Given the description of an element on the screen output the (x, y) to click on. 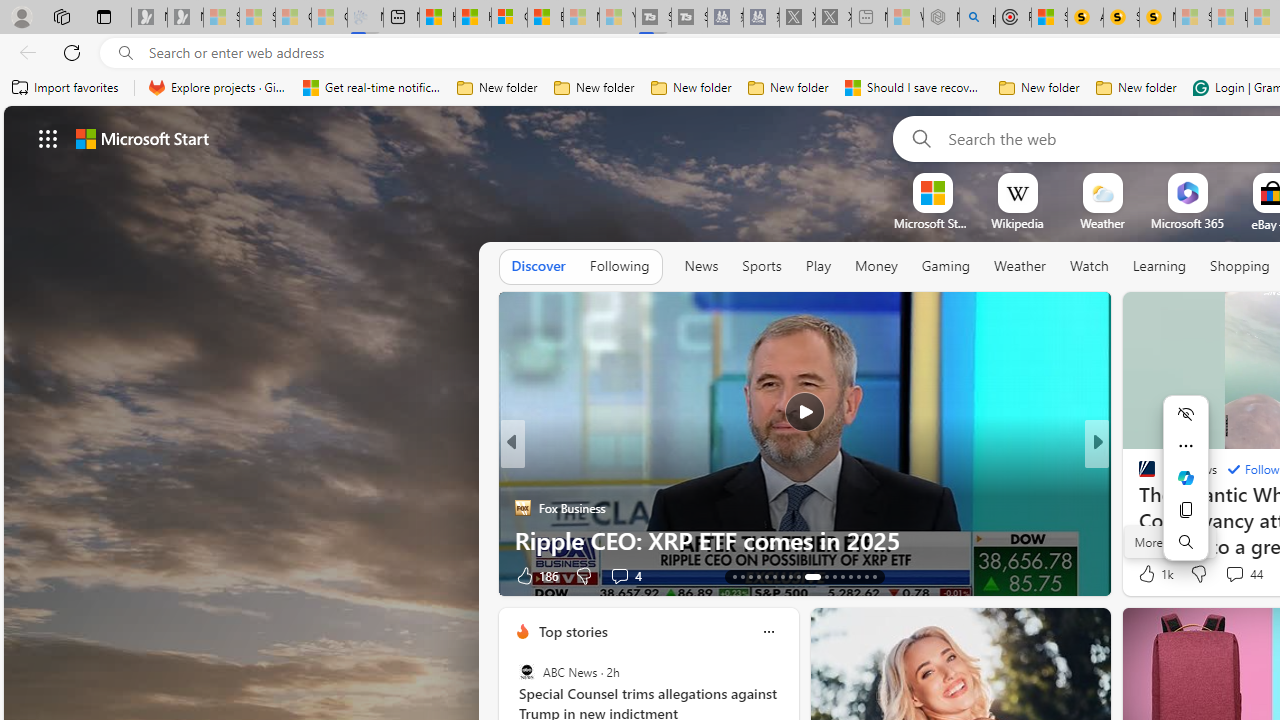
View comments 5 Comment (1234, 574)
186 Like (535, 574)
Search (917, 138)
Back (24, 52)
View comments 4 Comment (1234, 574)
Ask Copilot (1185, 477)
AutomationID: tab-25 (842, 576)
128 Like (1151, 574)
The Kanso (1138, 475)
Gaming (945, 267)
AutomationID: tab-28 (865, 576)
Microsoft Start Sports (932, 223)
Refresh (72, 52)
